Given the description of an element on the screen output the (x, y) to click on. 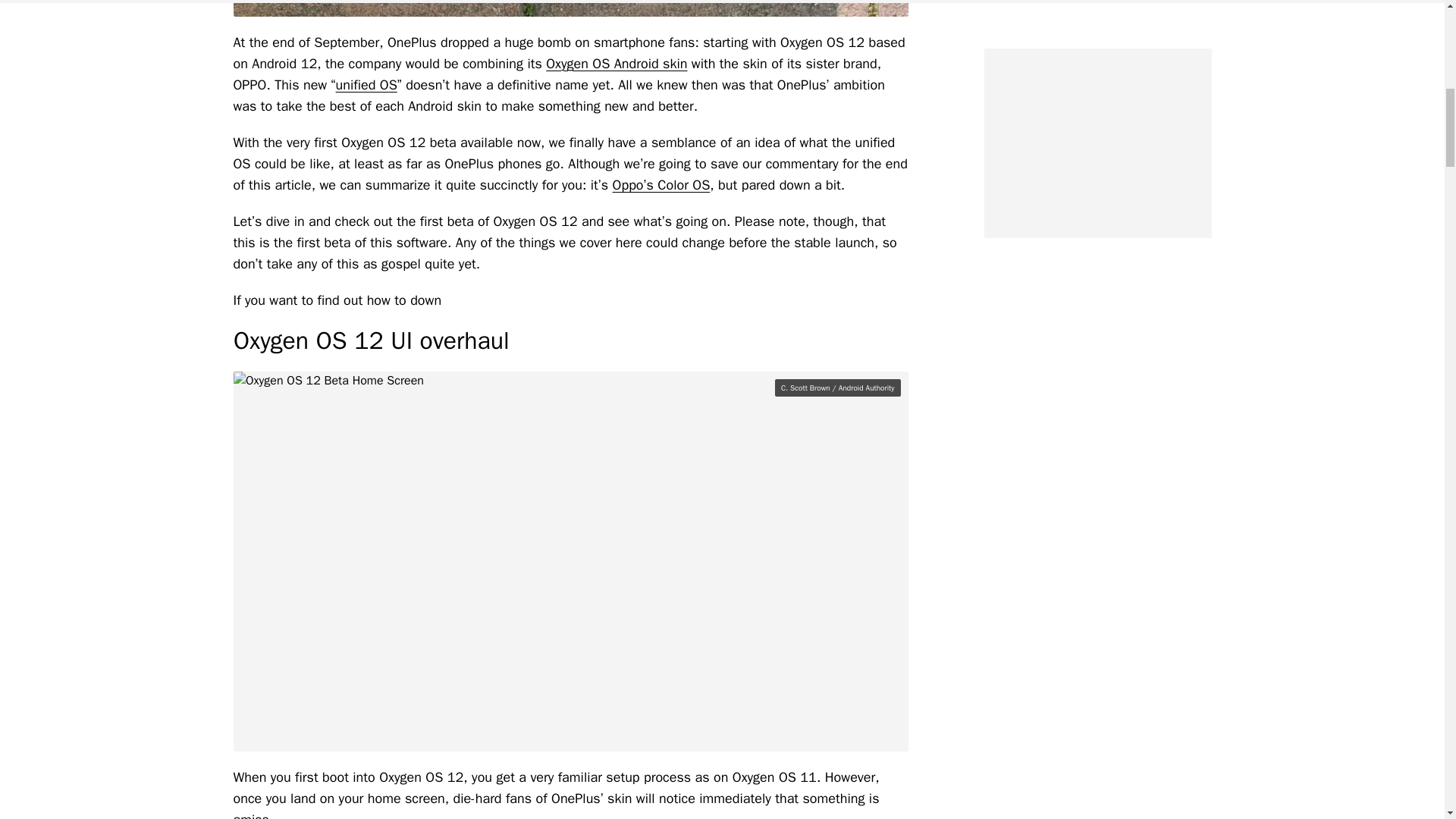
unified OS (366, 84)
Oxygen OS 12 Beta Android 12 Splash Page (570, 8)
Oxygen OS Android skin (616, 63)
